Given the description of an element on the screen output the (x, y) to click on. 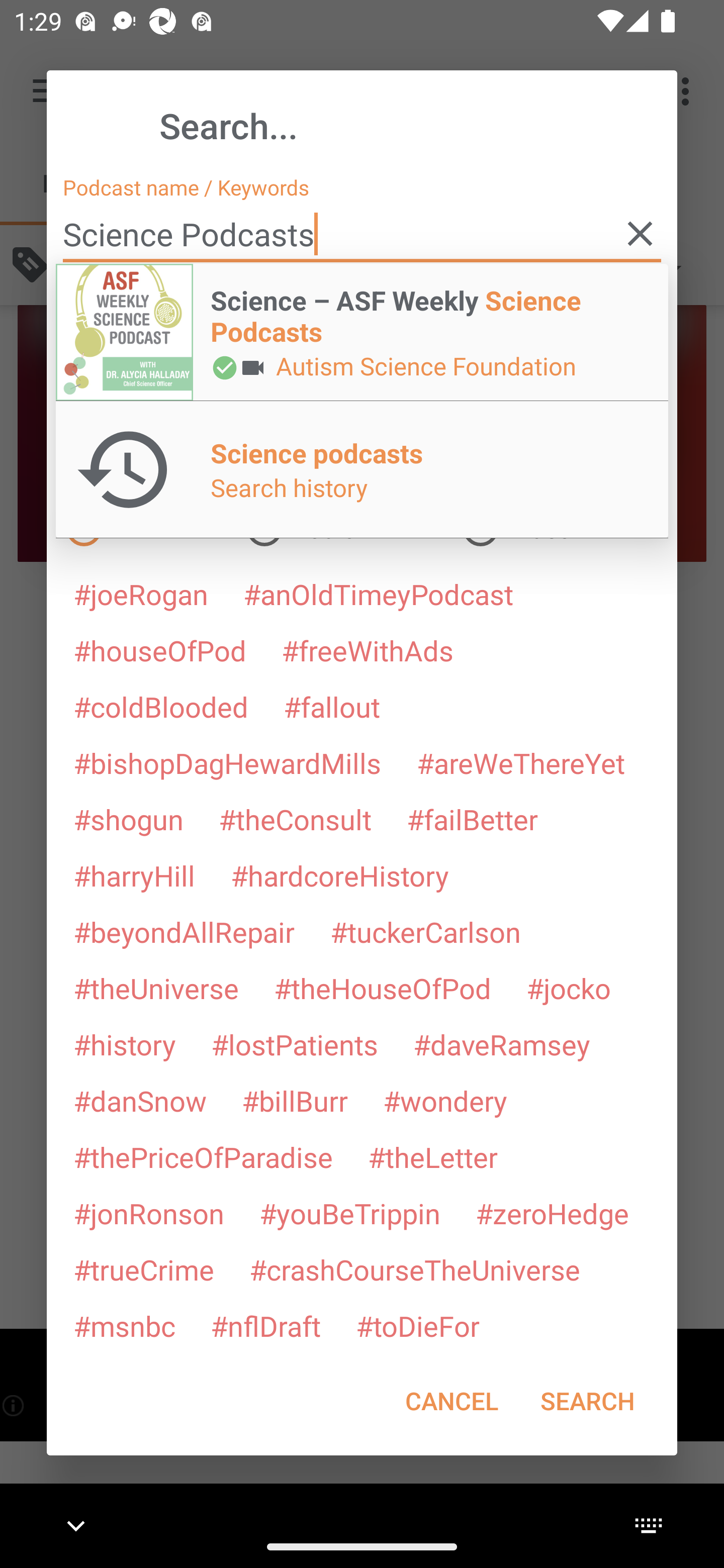
Science Podcasts (361, 234)
#joeRogan (140, 594)
#anOldTimeyPodcast (378, 594)
#houseOfPod (159, 650)
#freeWithAds (367, 650)
#coldBlooded (160, 705)
#fallout (331, 705)
#bishopDagHewardMills (227, 762)
#areWeThereYet (521, 762)
#shogun (128, 818)
#theConsult (294, 818)
#failBetter (471, 818)
#harryHill (134, 875)
#hardcoreHistory (339, 875)
#beyondAllRepair (184, 931)
#tuckerCarlson (425, 931)
#theUniverse (155, 987)
#theHouseOfPod (381, 987)
#jocko (568, 987)
#history (124, 1044)
#lostPatients (294, 1044)
#daveRamsey (501, 1044)
#danSnow (139, 1100)
#billBurr (294, 1100)
#wondery (444, 1100)
#thePriceOfParadise (203, 1157)
#theLetter (432, 1157)
#jonRonson (148, 1213)
#youBeTrippin (349, 1213)
#zeroHedge (552, 1213)
#trueCrime (143, 1268)
#crashCourseTheUniverse (414, 1268)
#msnbc (124, 1325)
#nflDraft (265, 1325)
#toDieFor (417, 1325)
CANCEL (451, 1400)
SEARCH (587, 1400)
